Given the description of an element on the screen output the (x, y) to click on. 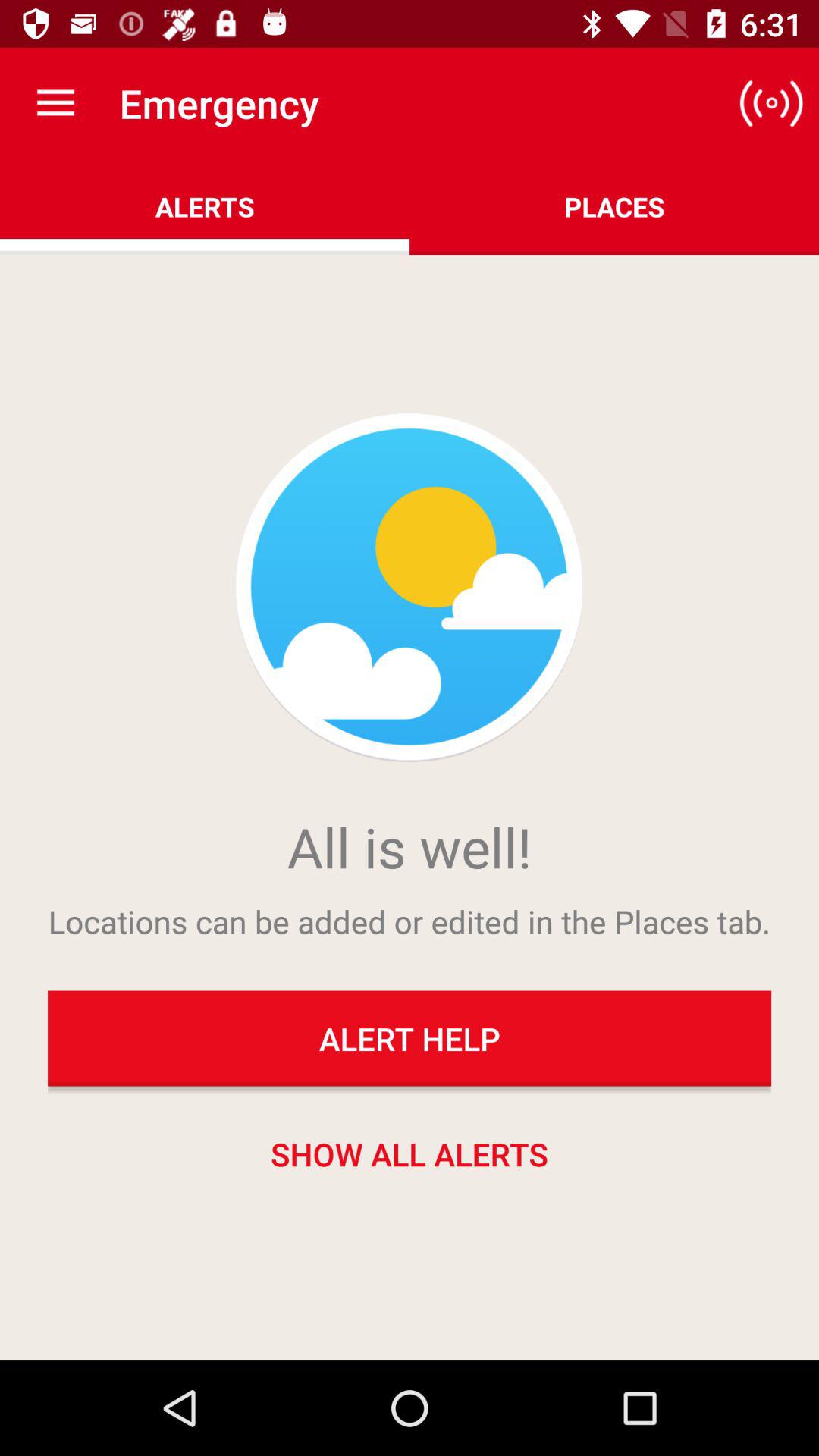
choose icon to the right of alerts (771, 103)
